Given the description of an element on the screen output the (x, y) to click on. 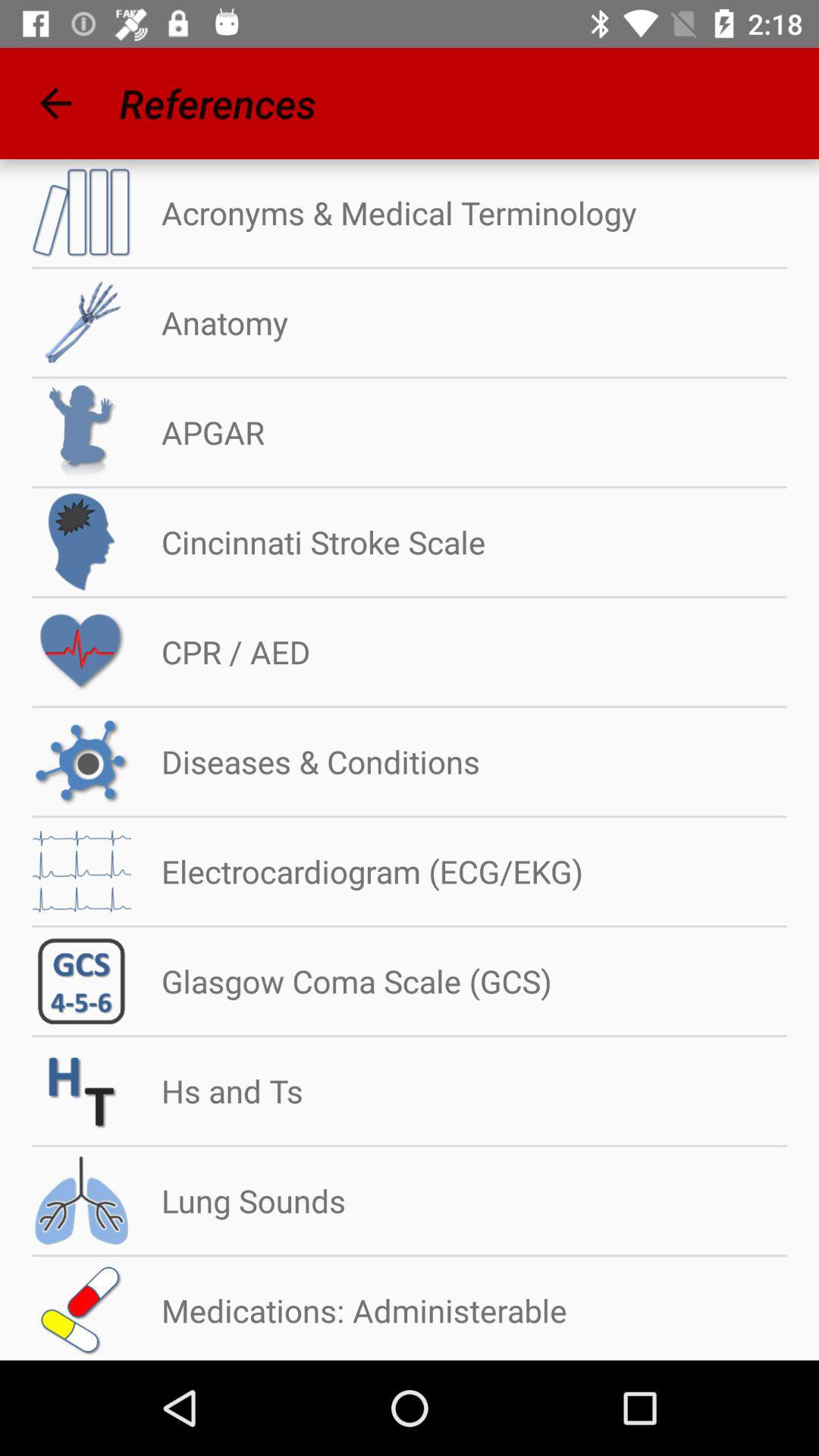
flip until the acronyms & medical terminology icon (384, 212)
